Given the description of an element on the screen output the (x, y) to click on. 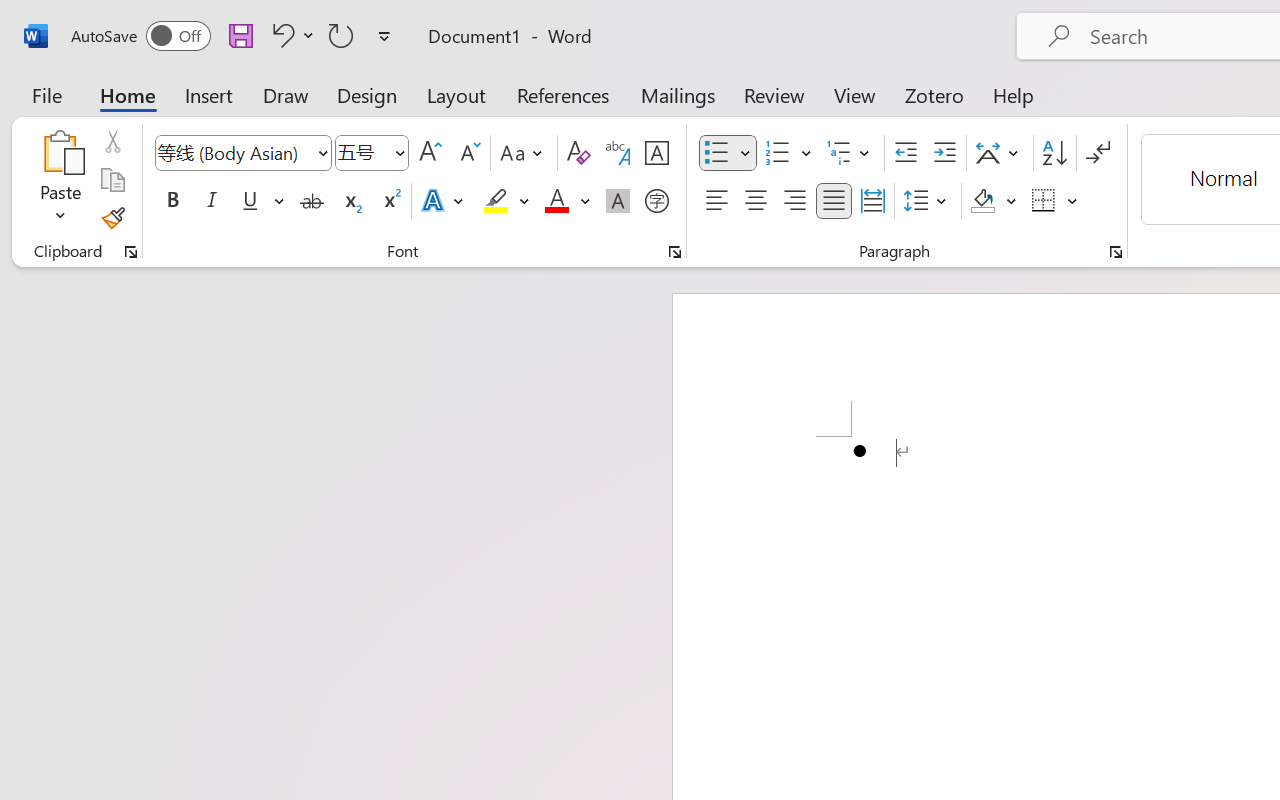
Undo Bullet Default (290, 35)
Repeat Bullet Default (341, 35)
